Given the description of an element on the screen output the (x, y) to click on. 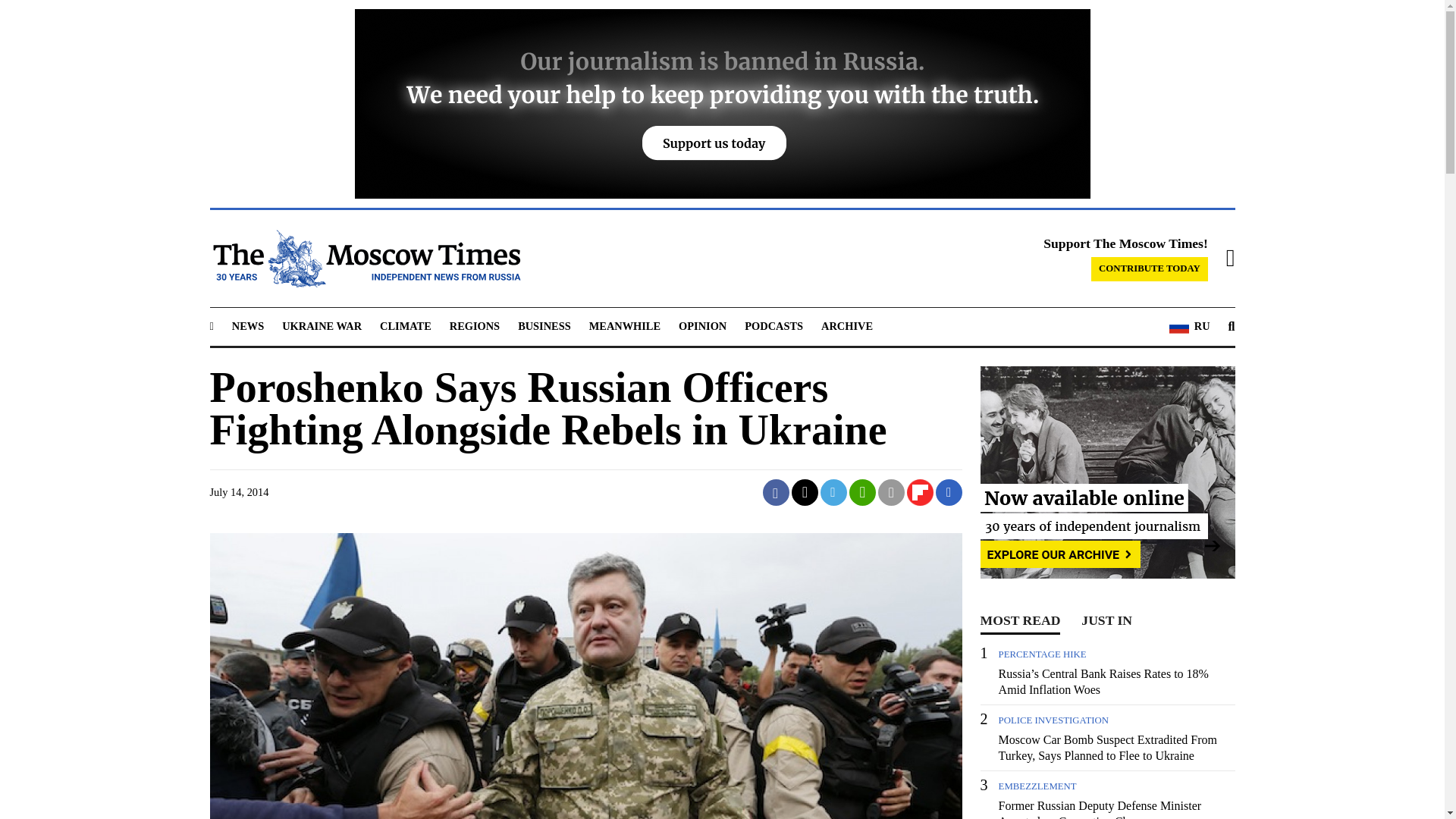
The Moscow Times - Independent News from Russia (364, 258)
OPINION (702, 326)
MEANWHILE (625, 326)
Share on Twitter (805, 492)
Share on Telegram (834, 492)
ARCHIVE (846, 326)
UKRAINE WAR (321, 326)
Share on Facebook (775, 492)
RU (1189, 326)
REGIONS (474, 326)
PODCASTS (773, 326)
NEWS (247, 326)
CLIMATE (405, 326)
Share on Flipboard (920, 492)
BUSINESS (544, 326)
